Given the description of an element on the screen output the (x, y) to click on. 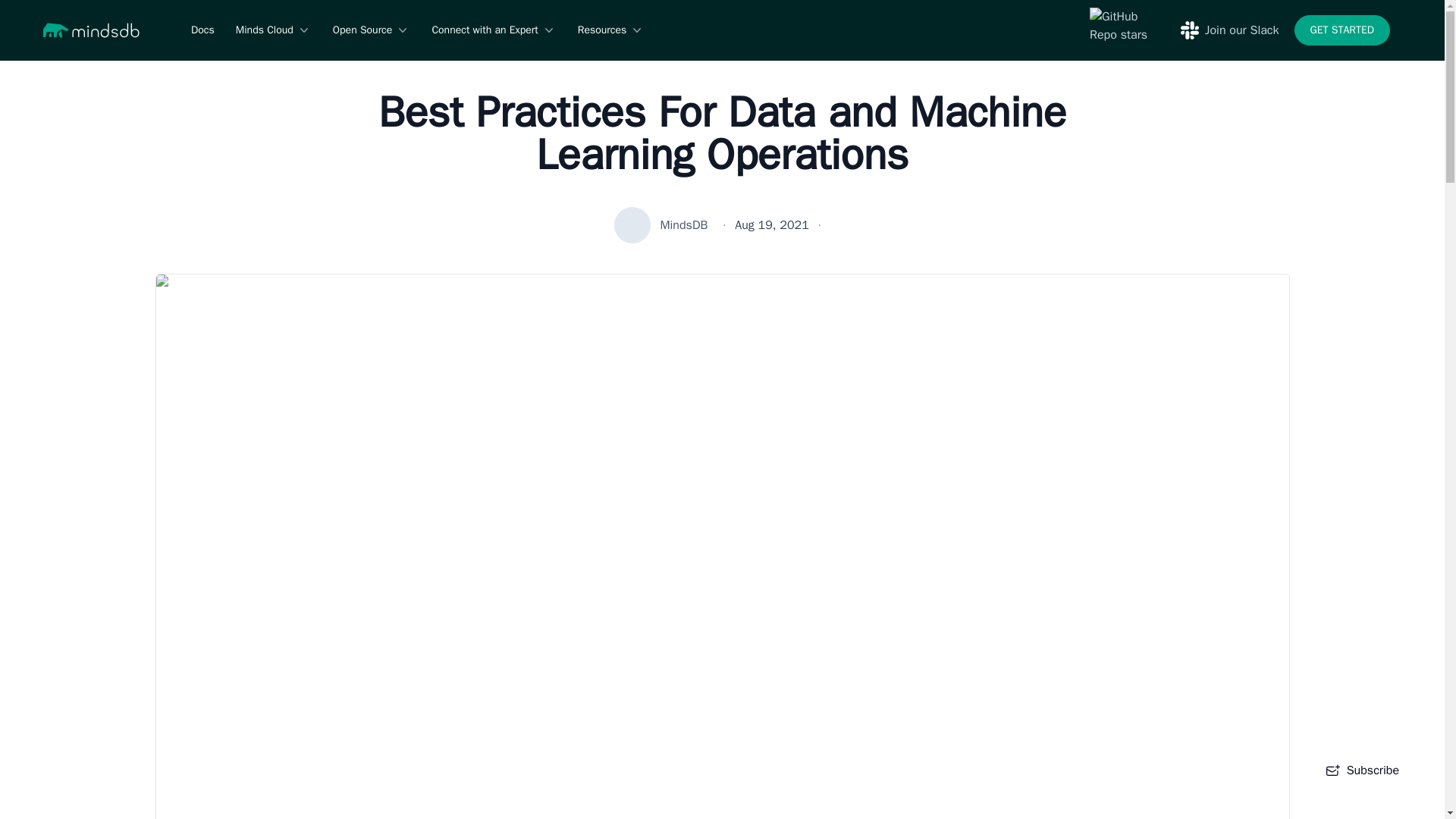
Resources (611, 30)
Open Source (371, 30)
Docs (202, 30)
Subscribe (1361, 770)
Join our Slack (1229, 30)
MindsDB (683, 225)
GET STARTED (1342, 30)
Minds Cloud (273, 30)
Connect with an Expert (493, 30)
